Given the description of an element on the screen output the (x, y) to click on. 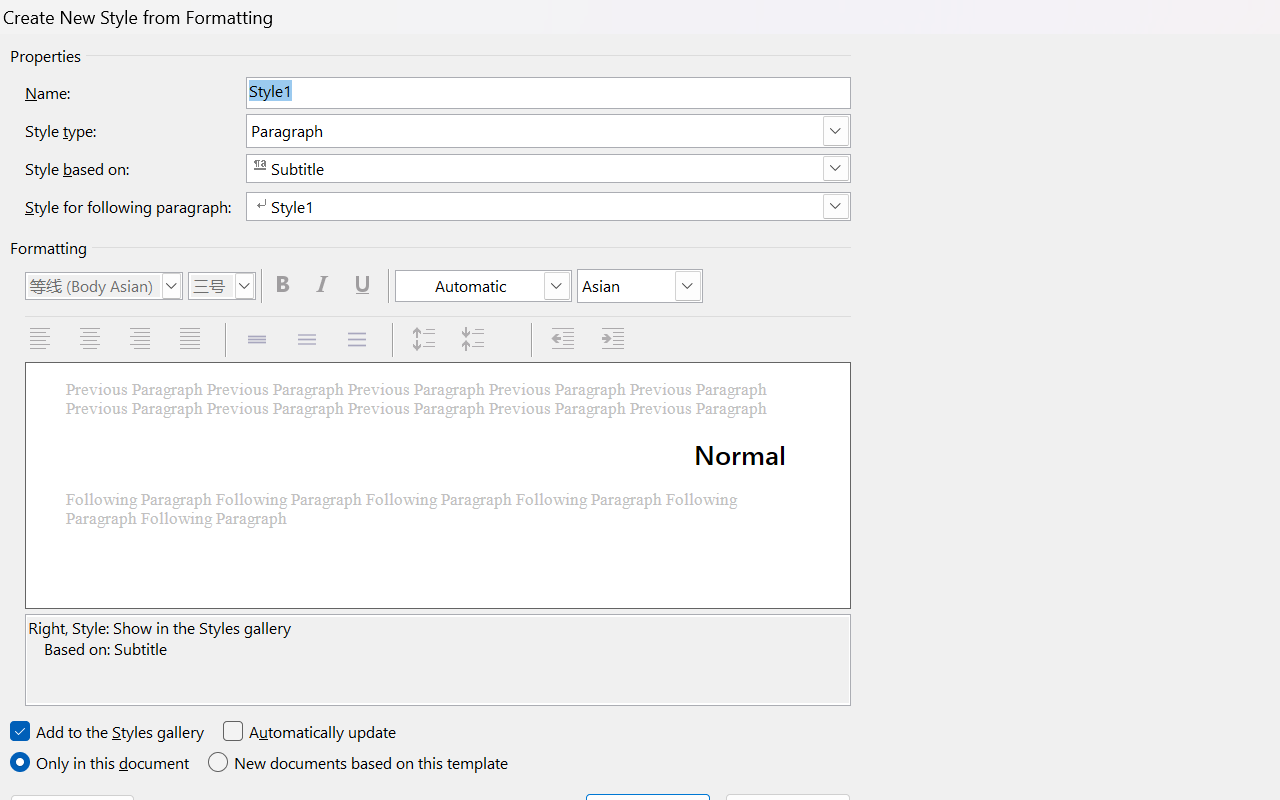
Style properties: (438, 659)
Style based on: (548, 168)
Single Spacing (258, 339)
Name: (548, 92)
Style for following paragraph: (548, 206)
Justify (192, 339)
Add to the Styles gallery (108, 731)
Align Right (142, 339)
New documents based on this template (359, 763)
Automatically update (310, 731)
Center (92, 339)
1.5 Spacing (308, 339)
